Given the description of an element on the screen output the (x, y) to click on. 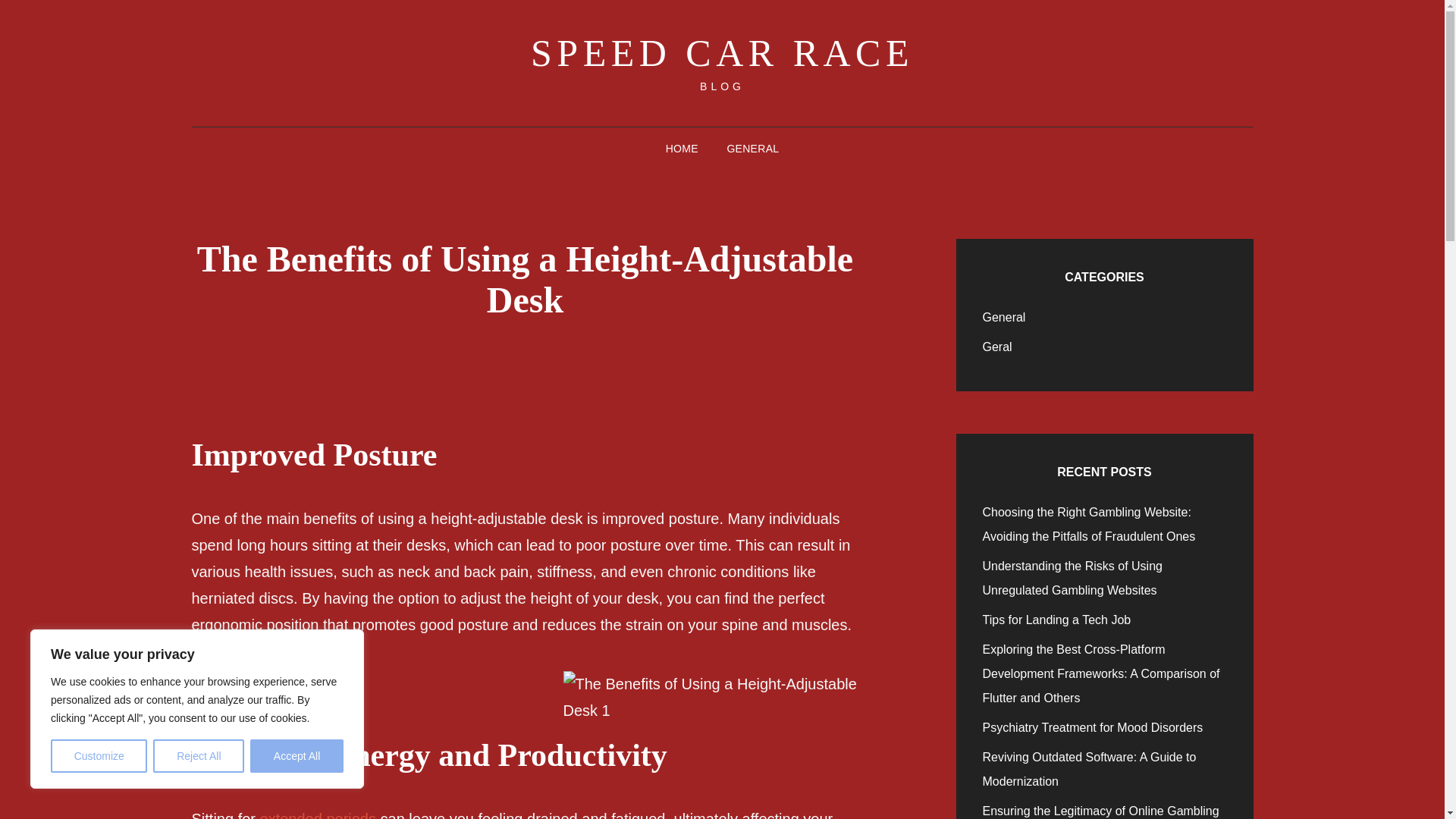
extended periods (317, 814)
GENERAL (752, 148)
Accept All (296, 756)
Tips for Landing a Tech Job (1056, 619)
Reject All (198, 756)
HOME (681, 148)
General (1004, 317)
Reviving Outdated Software: A Guide to Modernization (1089, 769)
Geral (996, 346)
